Given the description of an element on the screen output the (x, y) to click on. 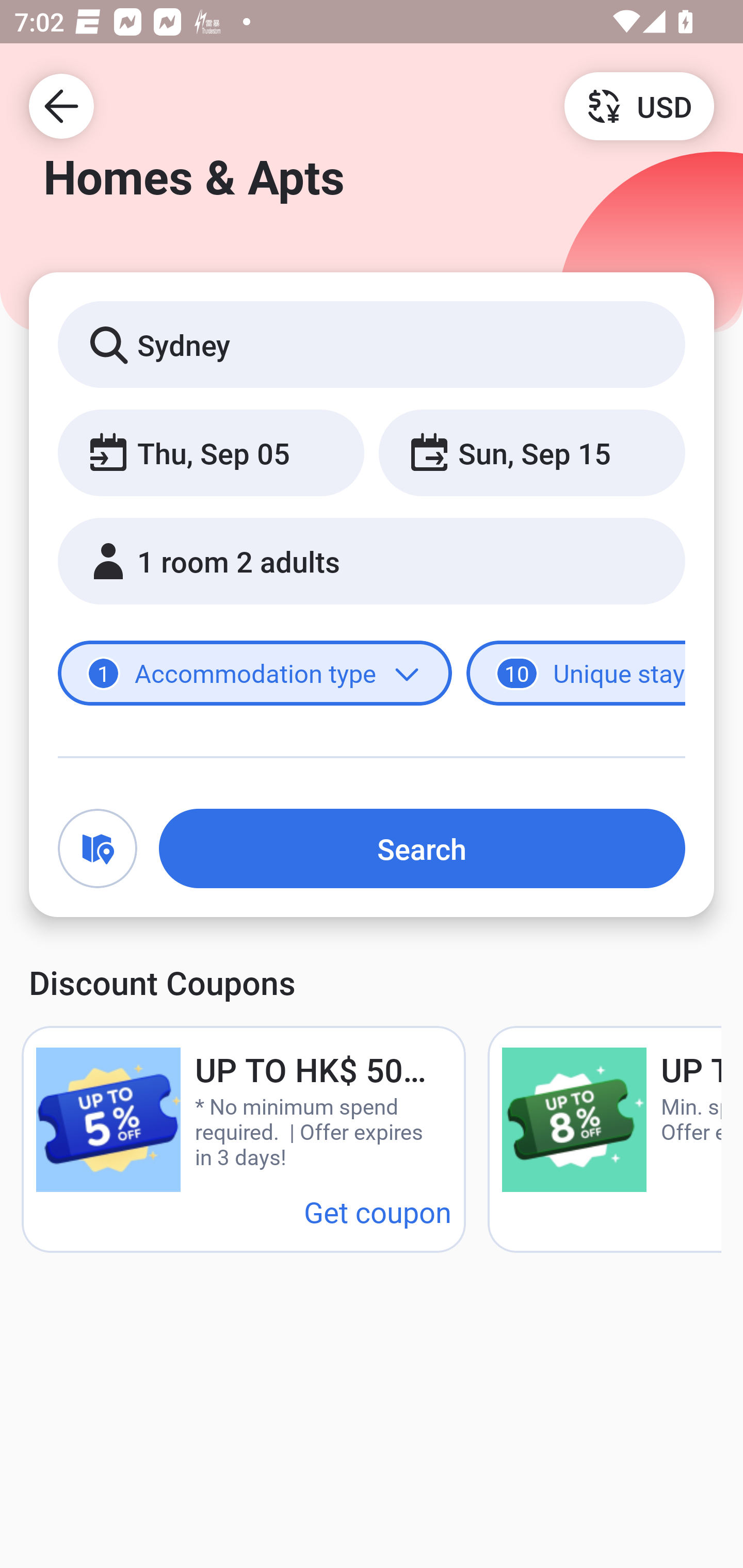
USD (639, 105)
Sydney (371, 344)
Thu, Sep 05 (210, 452)
Sun, Sep 15 (531, 452)
1 room 2 adults (371, 561)
1 Accommodation type (254, 673)
10 Unique stays (575, 673)
Search (422, 848)
Get coupon (377, 1211)
